Given the description of an element on the screen output the (x, y) to click on. 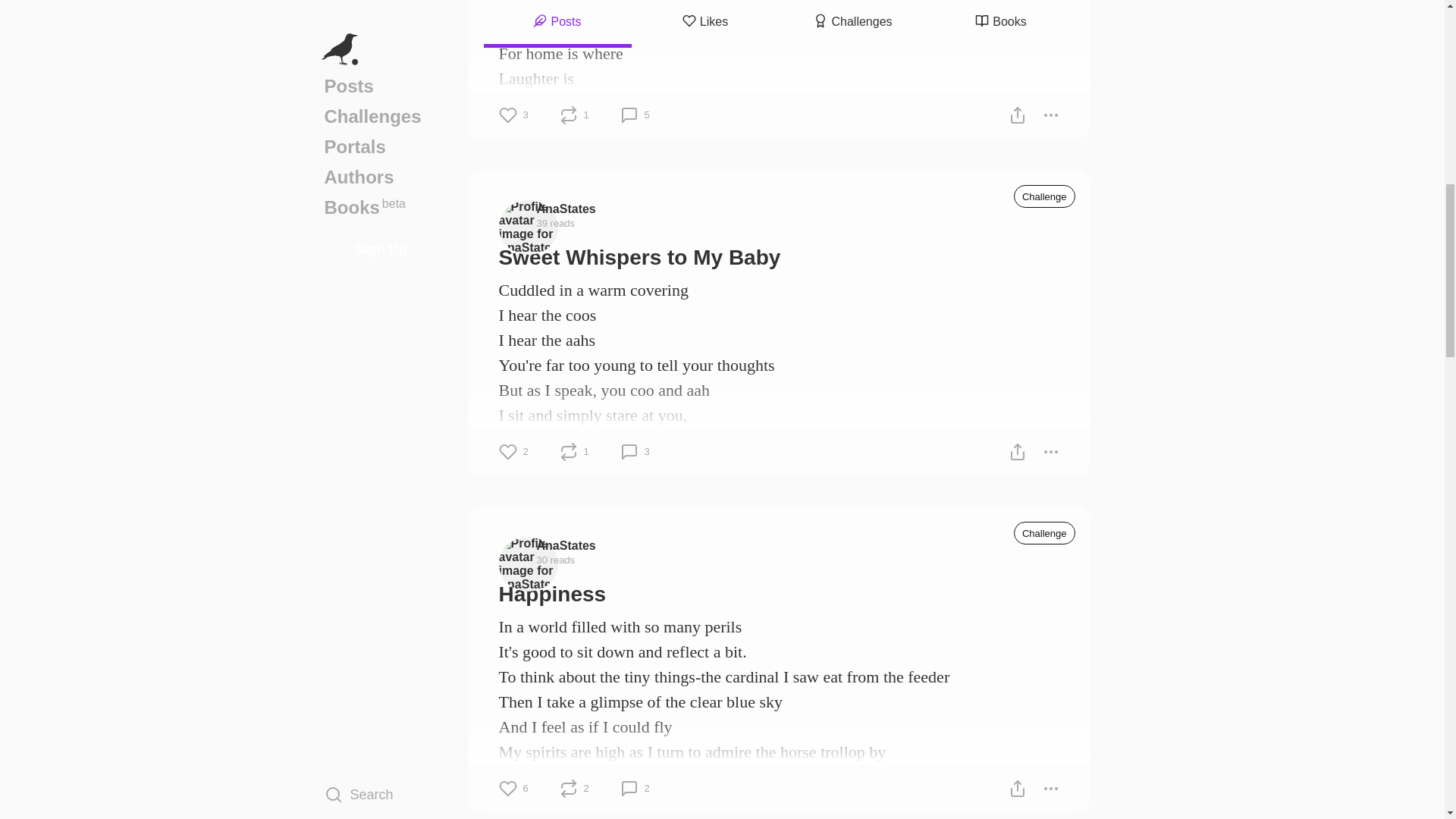
Challenge (1044, 196)
AnaStates (566, 207)
Challenge (1044, 532)
